Given the description of an element on the screen output the (x, y) to click on. 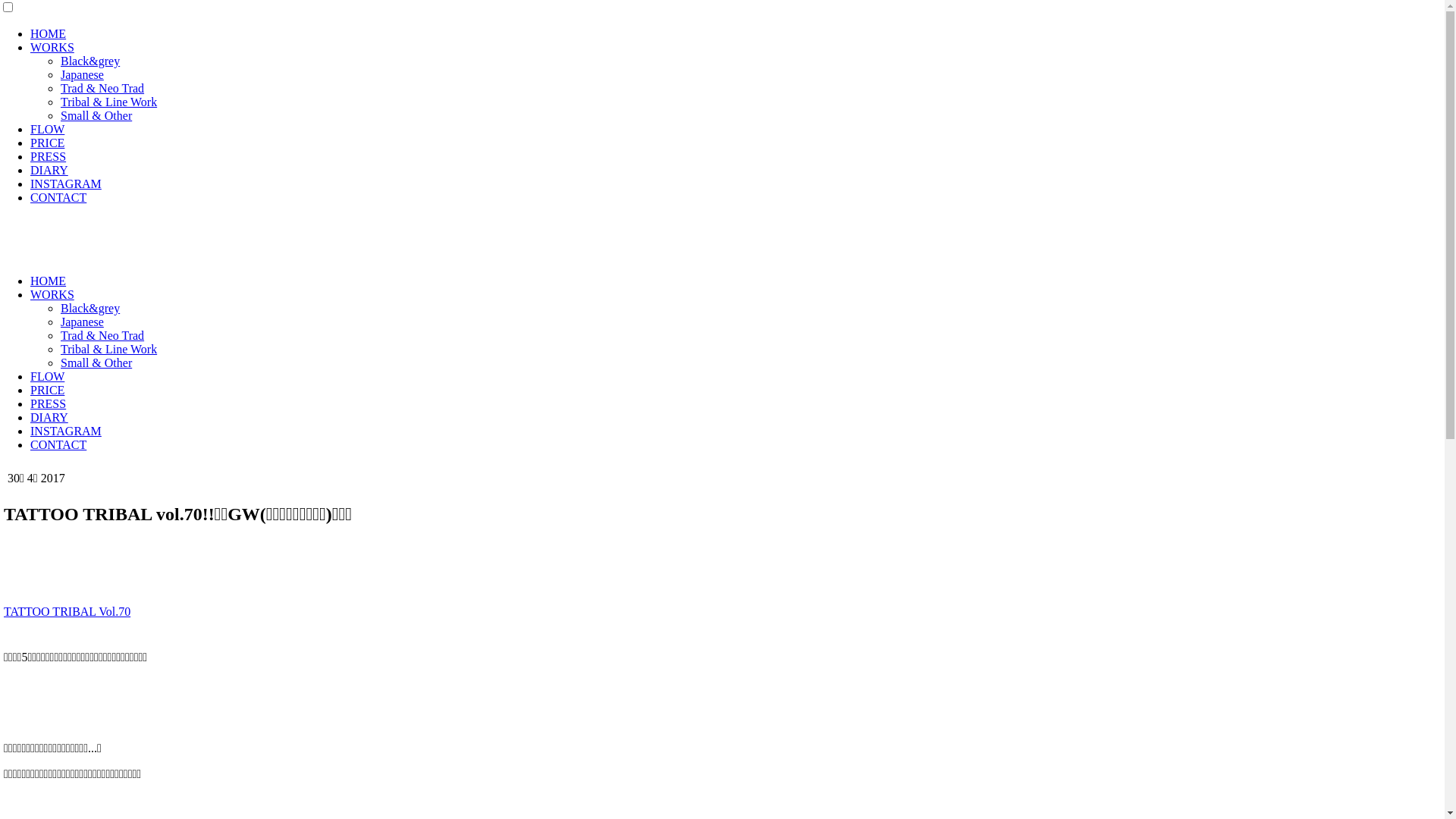
PRESS Element type: text (47, 156)
Japanese Element type: text (81, 74)
HOME Element type: text (47, 280)
WORKS Element type: text (52, 46)
FLOW Element type: text (47, 376)
FLOW Element type: text (47, 128)
Small & Other Element type: text (95, 362)
Black&grey Element type: text (89, 60)
Black&grey Element type: text (89, 307)
Trad & Neo Trad Element type: text (102, 335)
DIARY Element type: text (49, 169)
Small & Other Element type: text (95, 115)
Tribal & Line Work Element type: text (108, 348)
PRICE Element type: text (47, 142)
DIARY Element type: text (49, 417)
PRICE Element type: text (47, 389)
Trad & Neo Trad Element type: text (102, 87)
Tribal & Line Work Element type: text (108, 101)
CONTACT Element type: text (58, 444)
TATTOO TRIBAL Vol.70 Element type: text (66, 611)
HOME Element type: text (47, 33)
CONTACT Element type: text (58, 197)
INSTAGRAM Element type: text (65, 430)
Japanese Element type: text (81, 321)
PRESS Element type: text (47, 403)
INSTAGRAM Element type: text (65, 183)
WORKS Element type: text (52, 294)
